Given the description of an element on the screen output the (x, y) to click on. 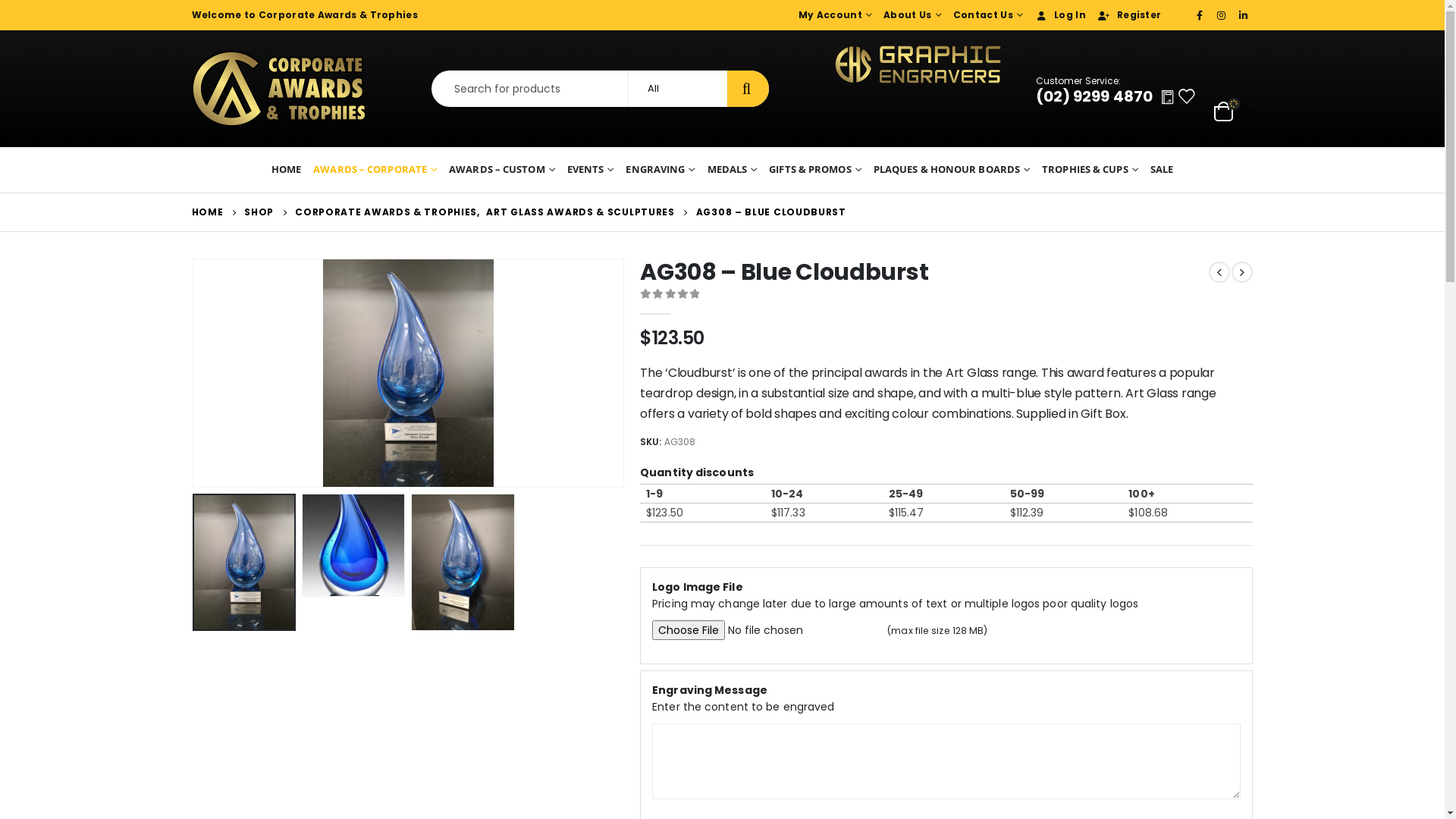
MEDALS Element type: text (732, 169)
Instagram Element type: hover (1221, 15)
LinkedIn Element type: hover (1243, 15)
About Us Element type: text (910, 14)
GIFTS & PROMOS Element type: text (814, 169)
PLAQUES & HONOUR BOARDS Element type: text (951, 169)
SHOP Element type: text (258, 211)
(02) 9299 4870 Element type: text (1093, 95)
ART GLASS AWARDS & SCULPTURES Element type: text (580, 211)
Log In Element type: text (1057, 14)
Register Element type: text (1126, 14)
ENGRAVING Element type: text (659, 169)
HOME Element type: text (286, 169)
Contact Us Element type: text (985, 14)
EVENTS Element type: text (590, 169)
CORPORATE AWARDS & TROPHIES Element type: text (385, 211)
Facebook Element type: hover (1200, 15)
HOME Element type: text (206, 211)
My Account Element type: text (832, 14)
SALE Element type: text (1161, 169)
04-27200 CYCA (AG308) (5) Element type: hover (408, 372)
TROPHIES & CUPS Element type: text (1089, 169)
